Given the description of an element on the screen output the (x, y) to click on. 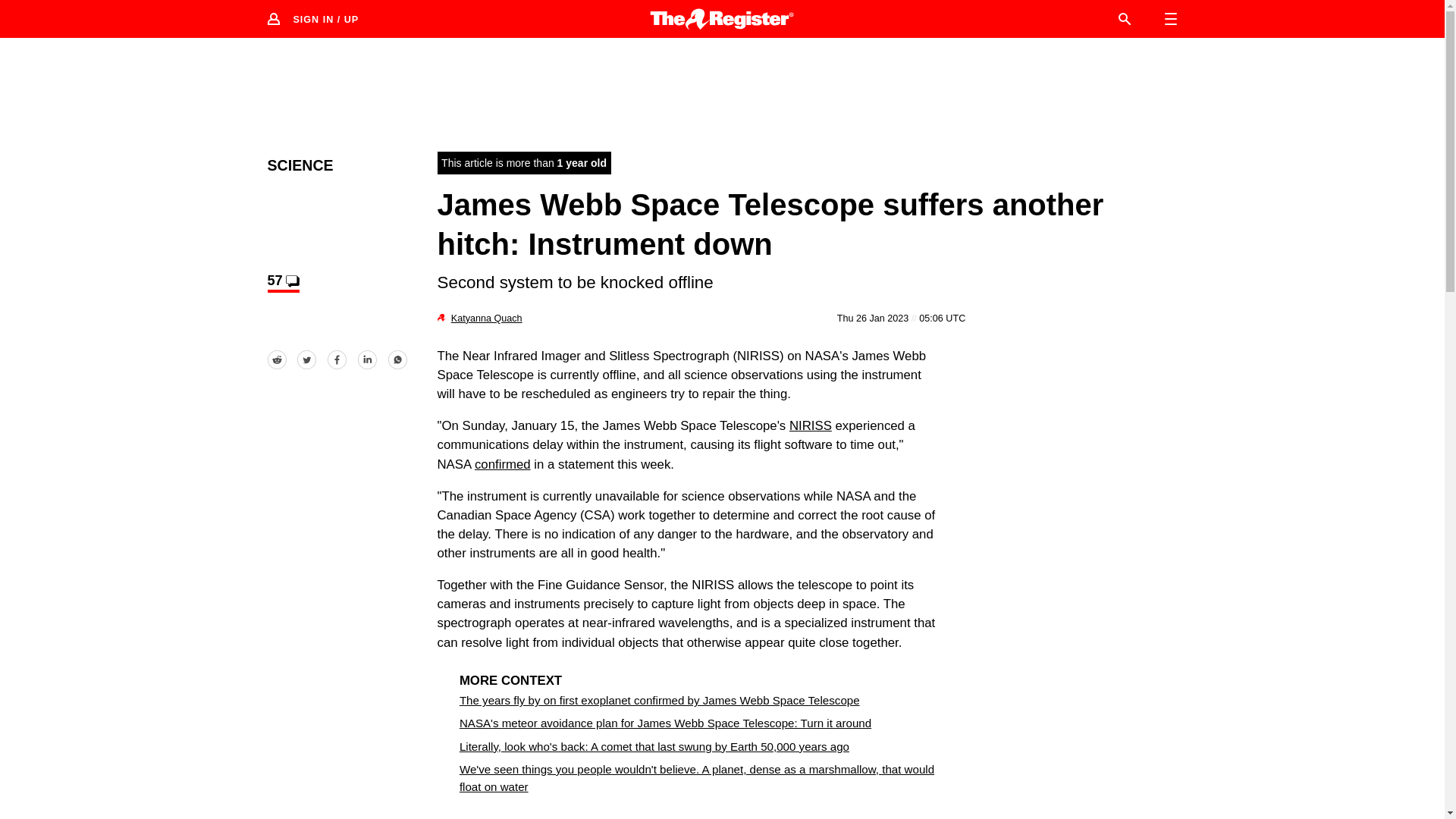
View comments on this article (282, 282)
Read more by this author (486, 318)
